Given the description of an element on the screen output the (x, y) to click on. 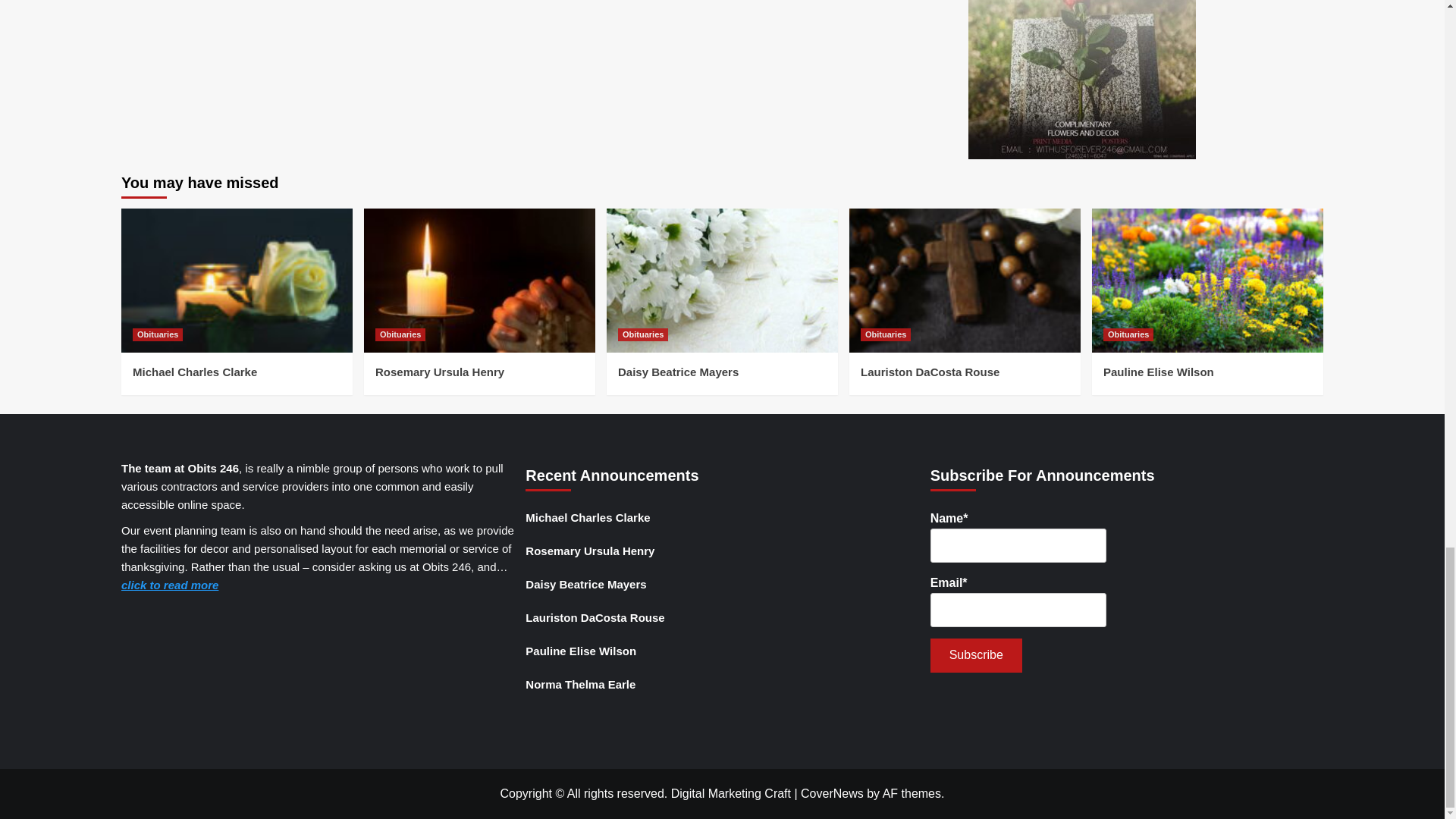
Subscribe (976, 655)
